Given the description of an element on the screen output the (x, y) to click on. 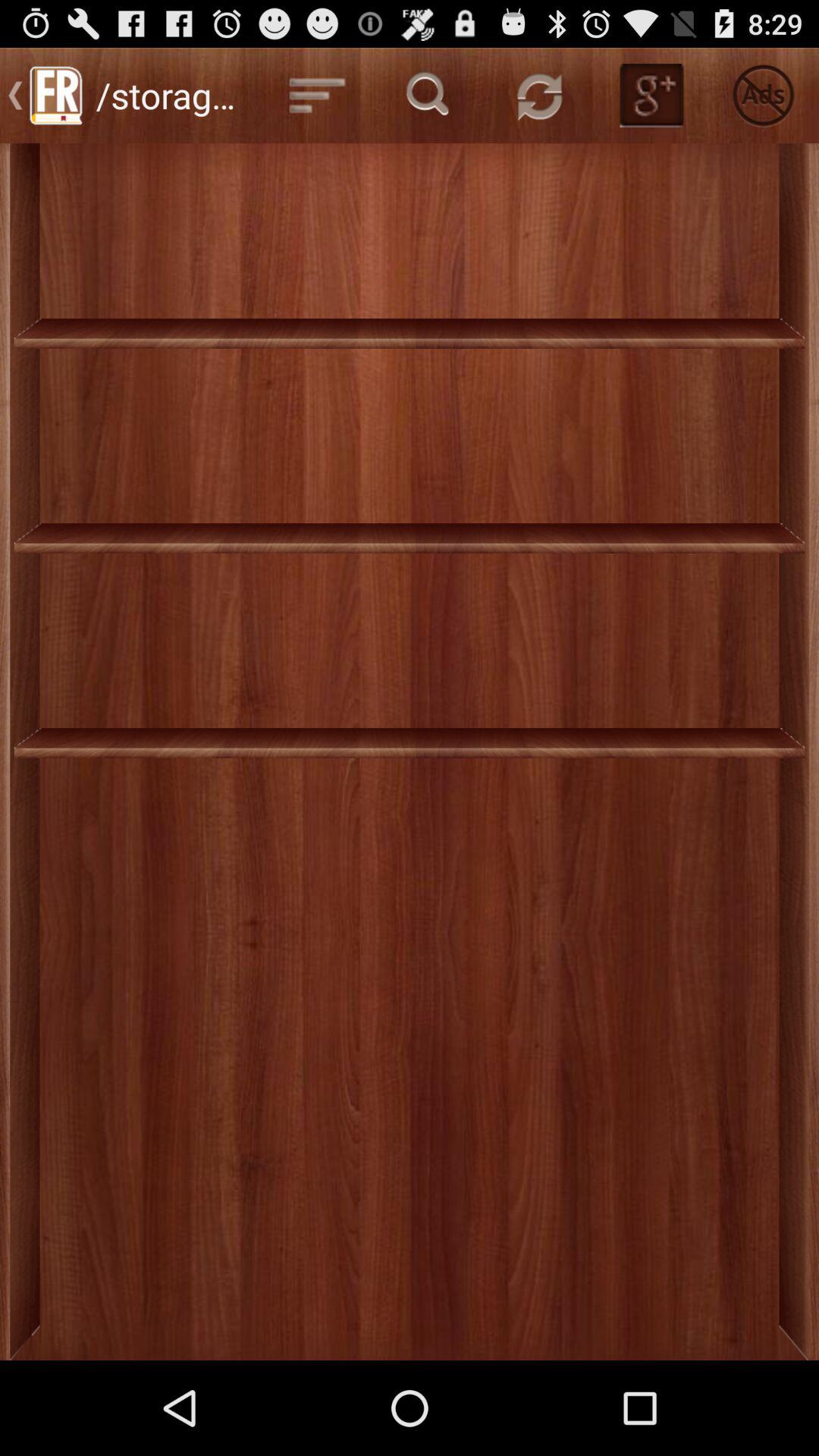
turn on icon next to the storage emulated 0 icon (317, 95)
